Given the description of an element on the screen output the (x, y) to click on. 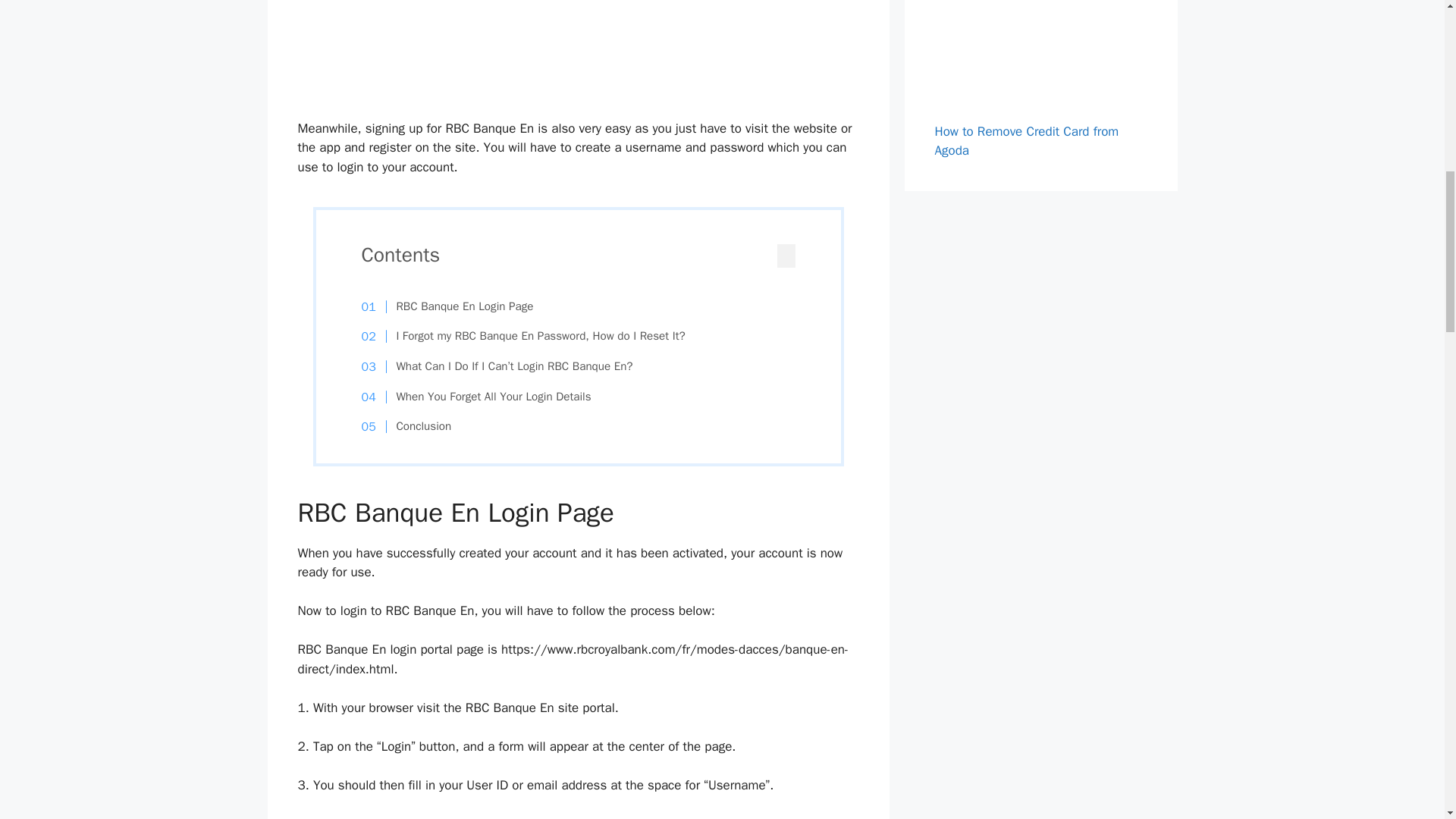
When You Forget All Your Login Details (484, 397)
Conclusion (414, 426)
Advertisement (578, 56)
I Forgot my RBC Banque En Password, How do I Reset It? (530, 336)
RBC Banque En Login Page (454, 307)
